Given the description of an element on the screen output the (x, y) to click on. 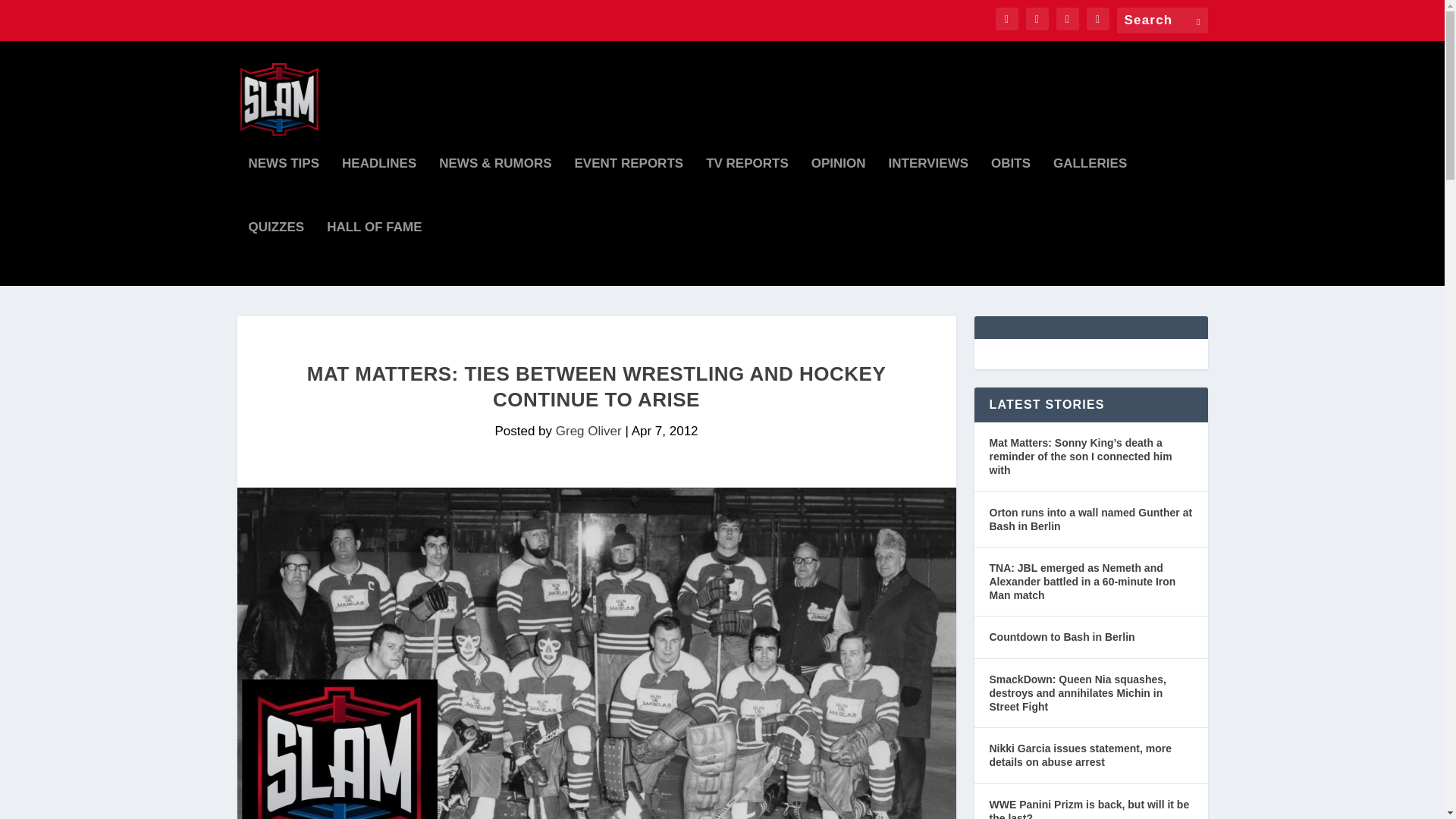
NEWS TIPS (284, 189)
GALLERIES (1089, 189)
Posts by Greg Oliver (588, 431)
EVENT REPORTS (629, 189)
TV REPORTS (747, 189)
INTERVIEWS (928, 189)
HALL OF FAME (374, 253)
HEADLINES (379, 189)
Greg Oliver (588, 431)
Search for: (1161, 20)
